Given the description of an element on the screen output the (x, y) to click on. 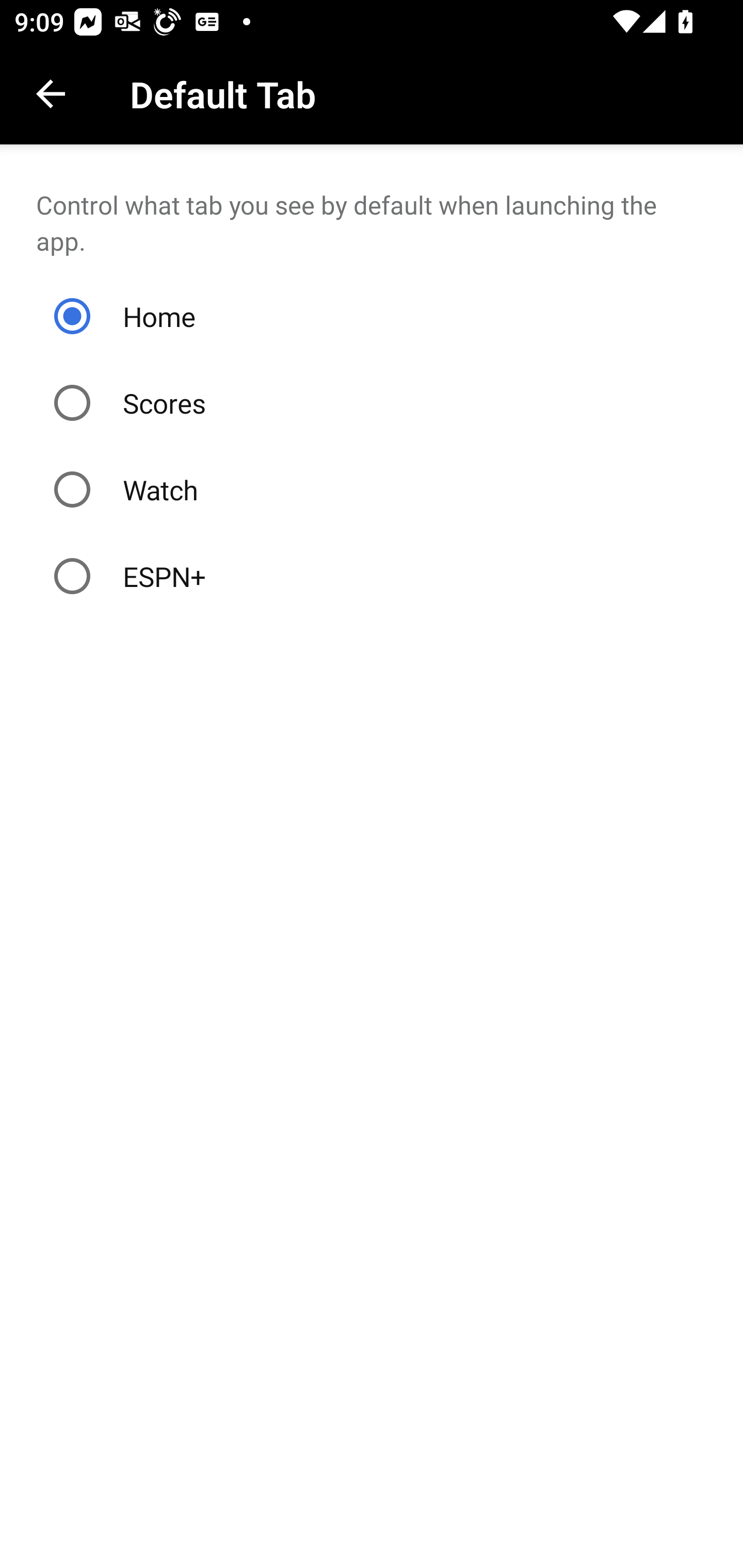
back.button (50, 93)
